Given the description of an element on the screen output the (x, y) to click on. 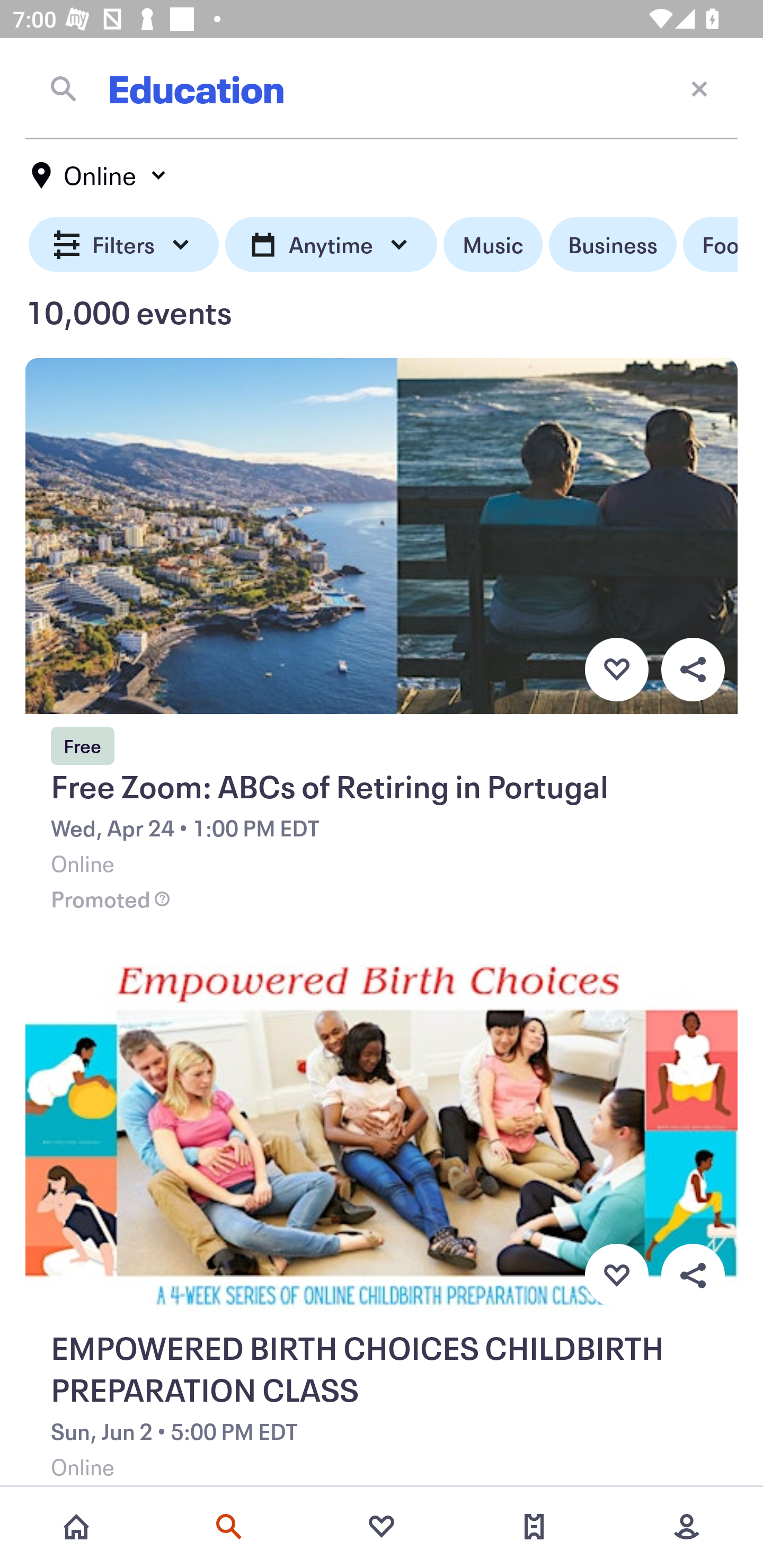
Education Close current screen (381, 88)
Close current screen (699, 88)
Online (99, 175)
Filters (123, 244)
Anytime (331, 244)
Music (492, 244)
Business (612, 244)
Favorite button (616, 669)
Overflow menu button (692, 669)
Favorite button (616, 1275)
Overflow menu button (692, 1275)
Home (76, 1526)
Search events (228, 1526)
Favorites (381, 1526)
Tickets (533, 1526)
More (686, 1526)
